Given the description of an element on the screen output the (x, y) to click on. 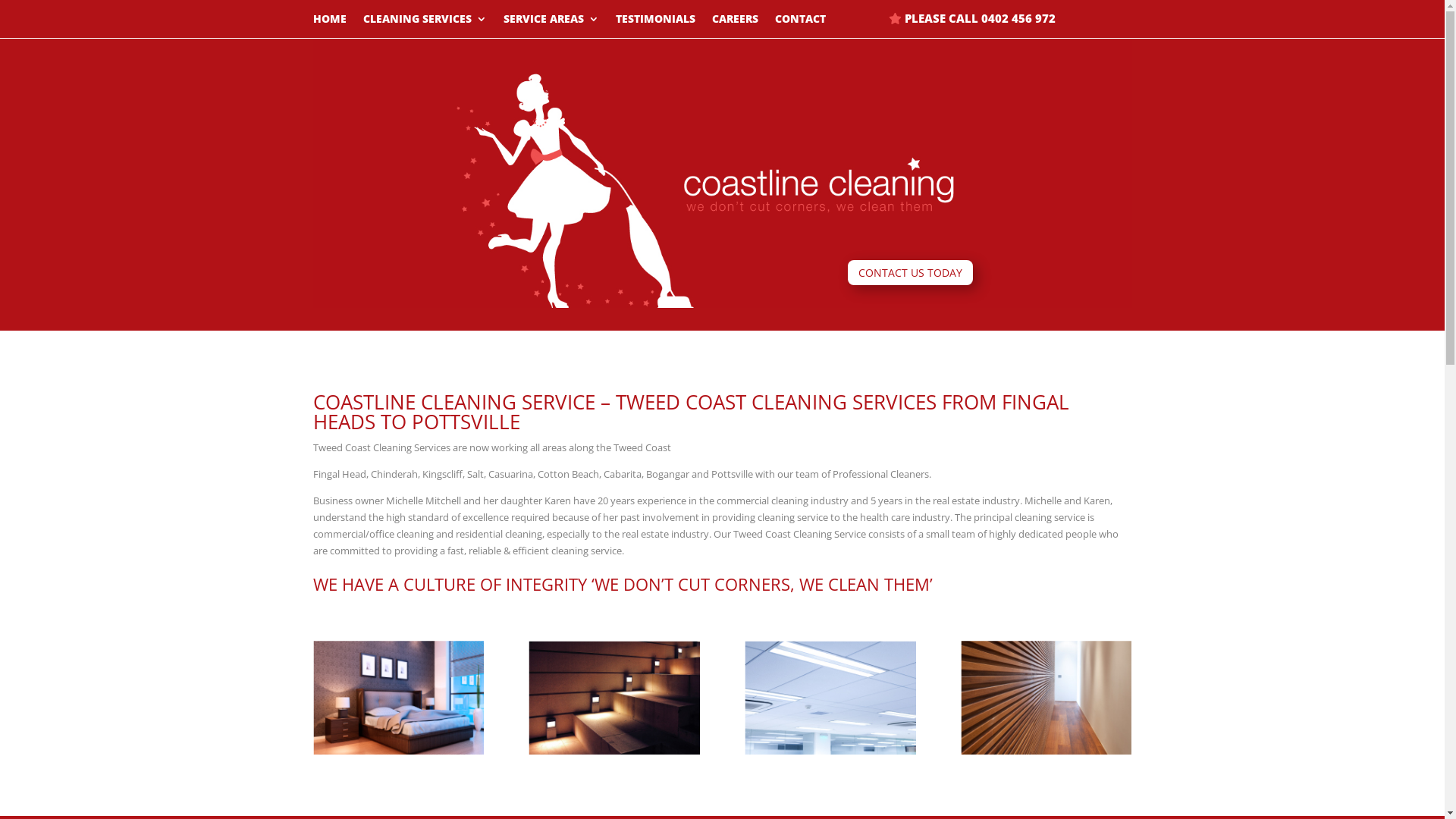
area1 Element type: hover (397, 697)
area2 Element type: hover (1045, 697)
SERVICE AREAS Element type: text (551, 21)
mobile-banner Element type: hover (721, 172)
CONTACT US TODAY Element type: text (909, 272)
CONTACT Element type: text (800, 21)
HOME Element type: text (328, 21)
CAREERS Element type: text (734, 21)
TESTIMONIALS Element type: text (655, 21)
0402 456 972 Element type: text (1018, 17)
CLEANING SERVICES Element type: text (424, 21)
area3 Element type: hover (829, 697)
area4 Element type: hover (613, 697)
